Given the description of an element on the screen output the (x, y) to click on. 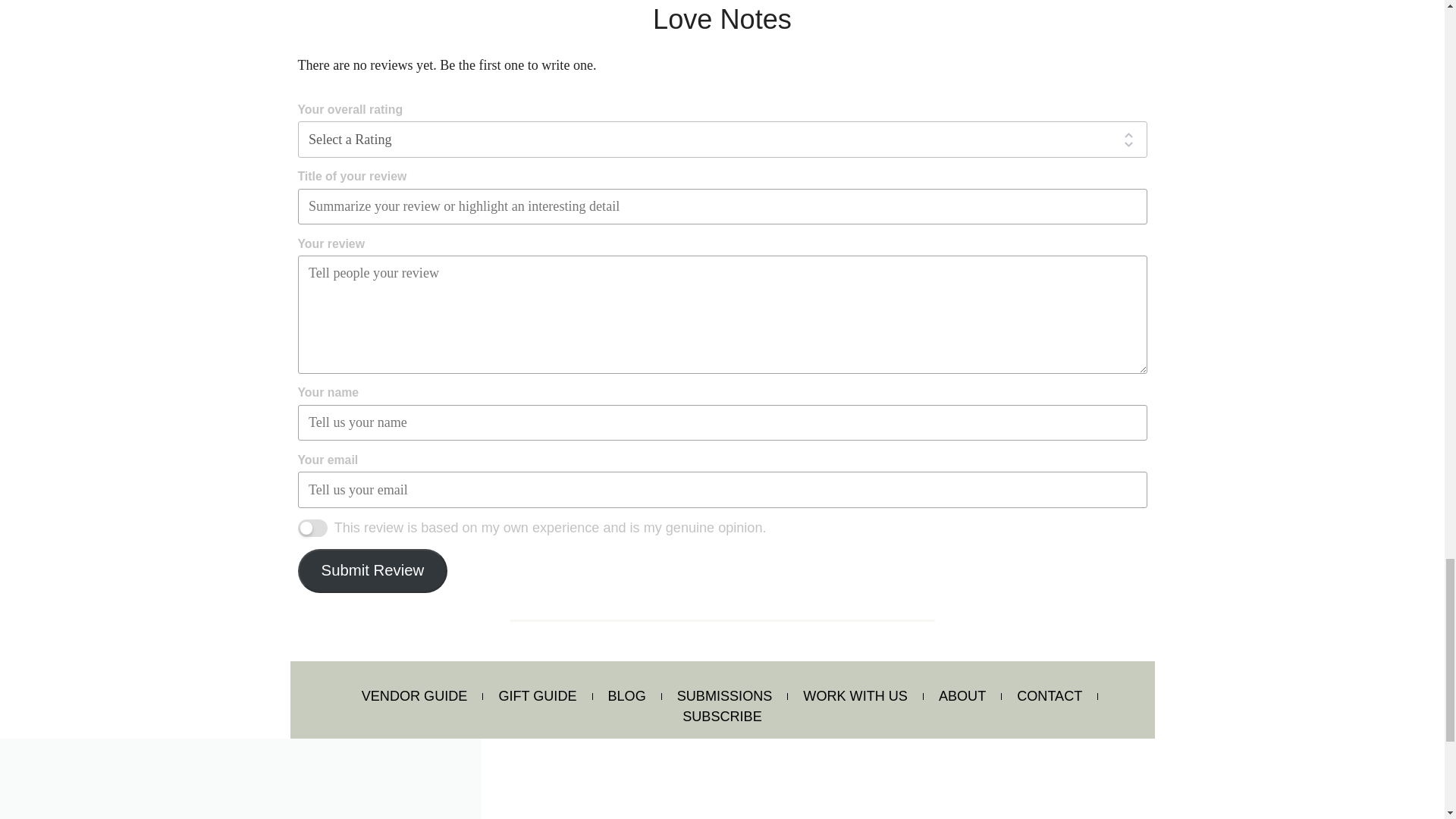
1 (311, 528)
